Given the description of an element on the screen output the (x, y) to click on. 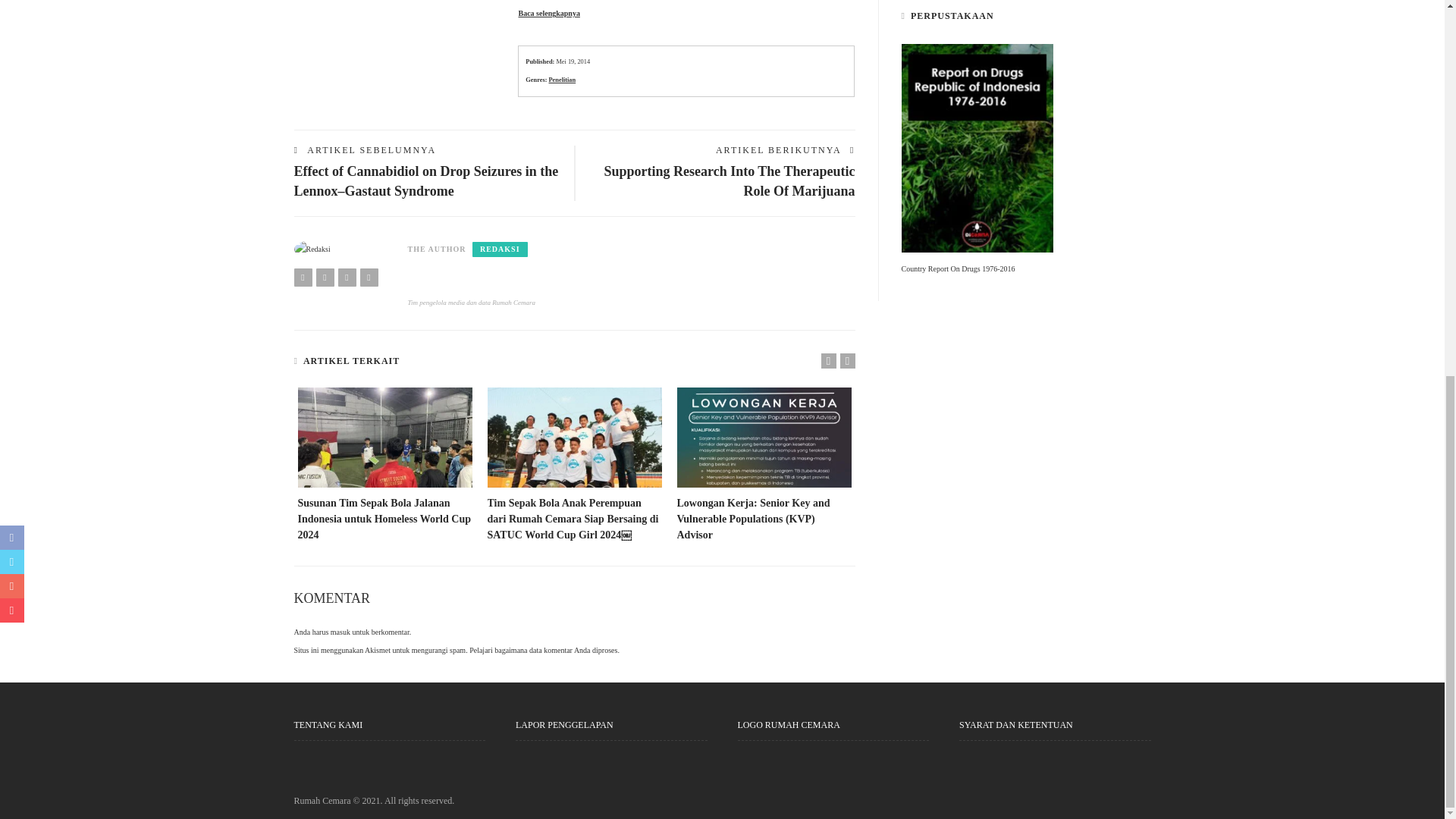
Supporting Research Into The Therapeutic Role Of Marijuana (729, 180)
